Given the description of an element on the screen output the (x, y) to click on. 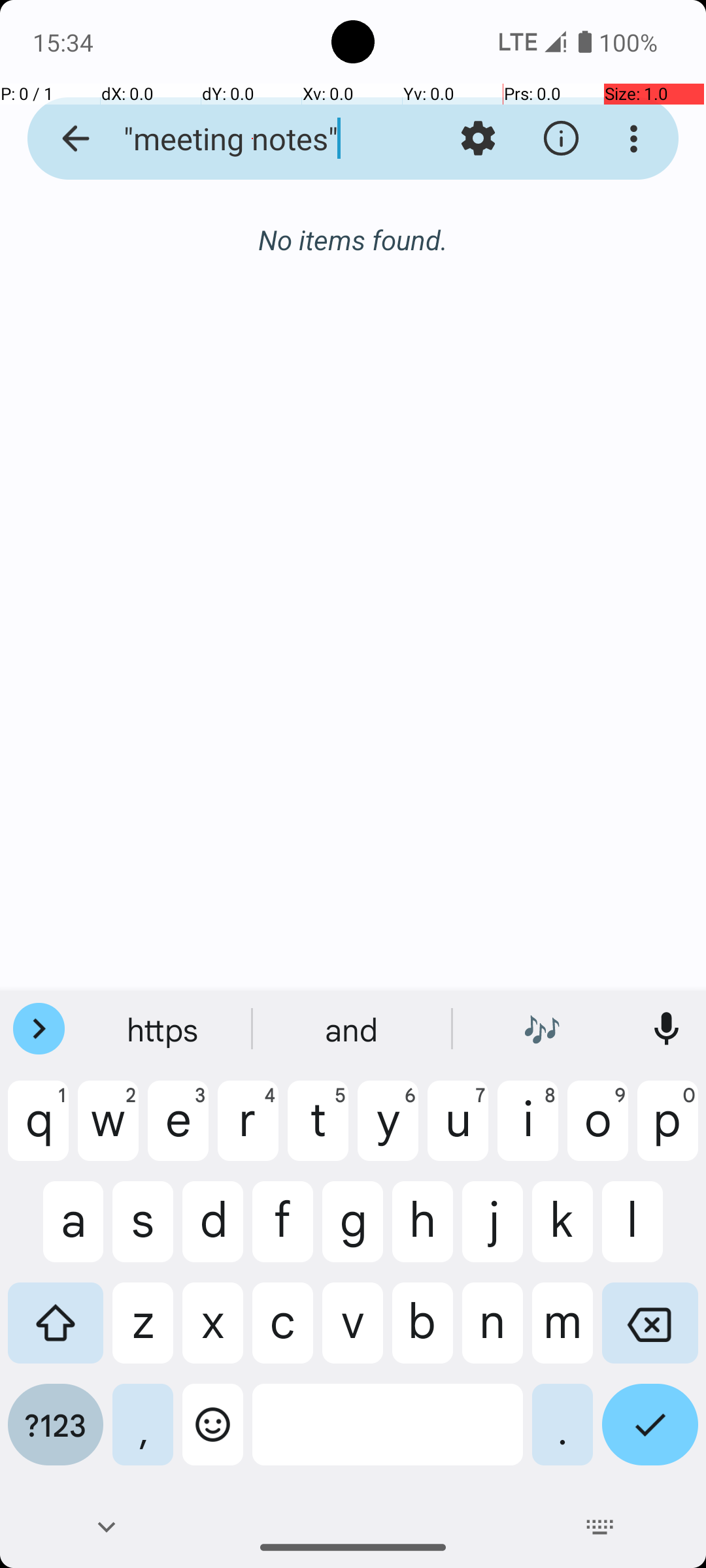
"meeting notes" Element type: android.widget.EditText (252, 138)
https Element type: android.widget.FrameLayout (163, 1028)
and Element type: android.widget.FrameLayout (352, 1028)
emoji 🎶 Element type: android.widget.FrameLayout (541, 1028)
